Given the description of an element on the screen output the (x, y) to click on. 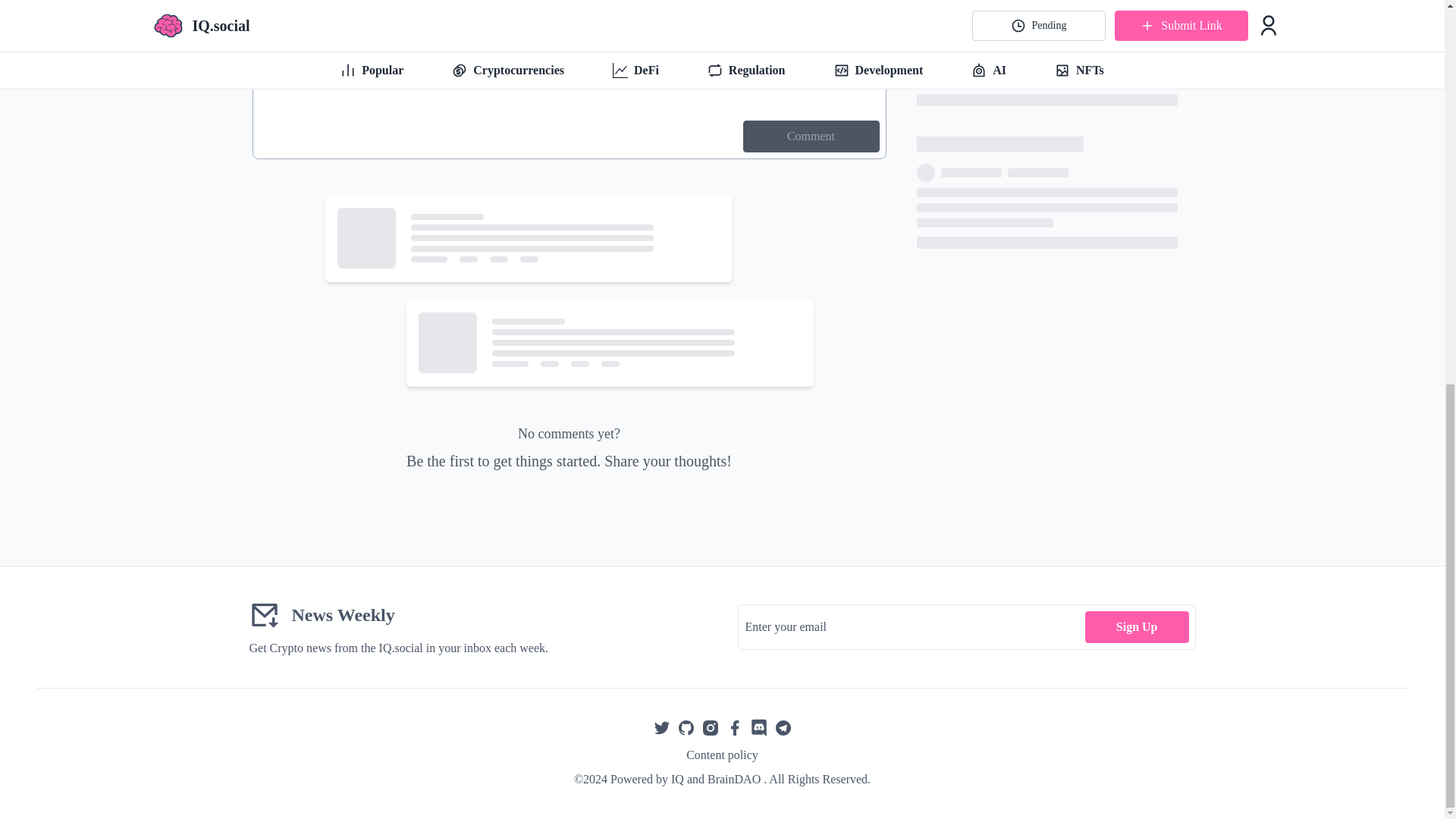
Comment (810, 136)
Sign Up (1136, 626)
BrainDAO (733, 779)
IQ (677, 779)
Content policy (721, 755)
